Given the description of an element on the screen output the (x, y) to click on. 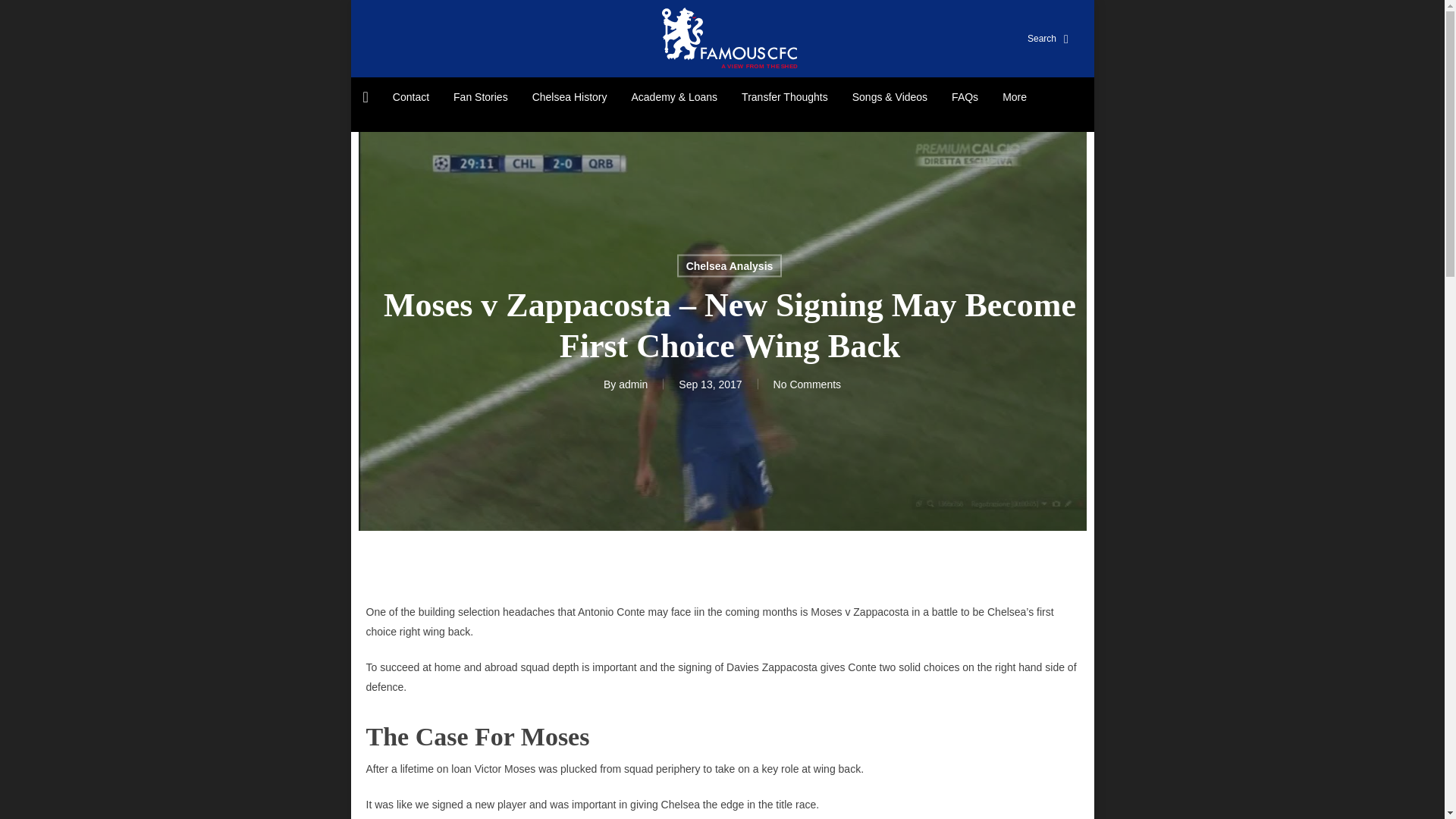
Fan Stories (480, 96)
More (1014, 96)
No Comments (807, 383)
Transfer Thoughts (784, 96)
Chelsea History (569, 96)
Contact (410, 96)
Posts by admin (632, 383)
admin (632, 383)
search (1036, 38)
FAQs (964, 96)
